Given the description of an element on the screen output the (x, y) to click on. 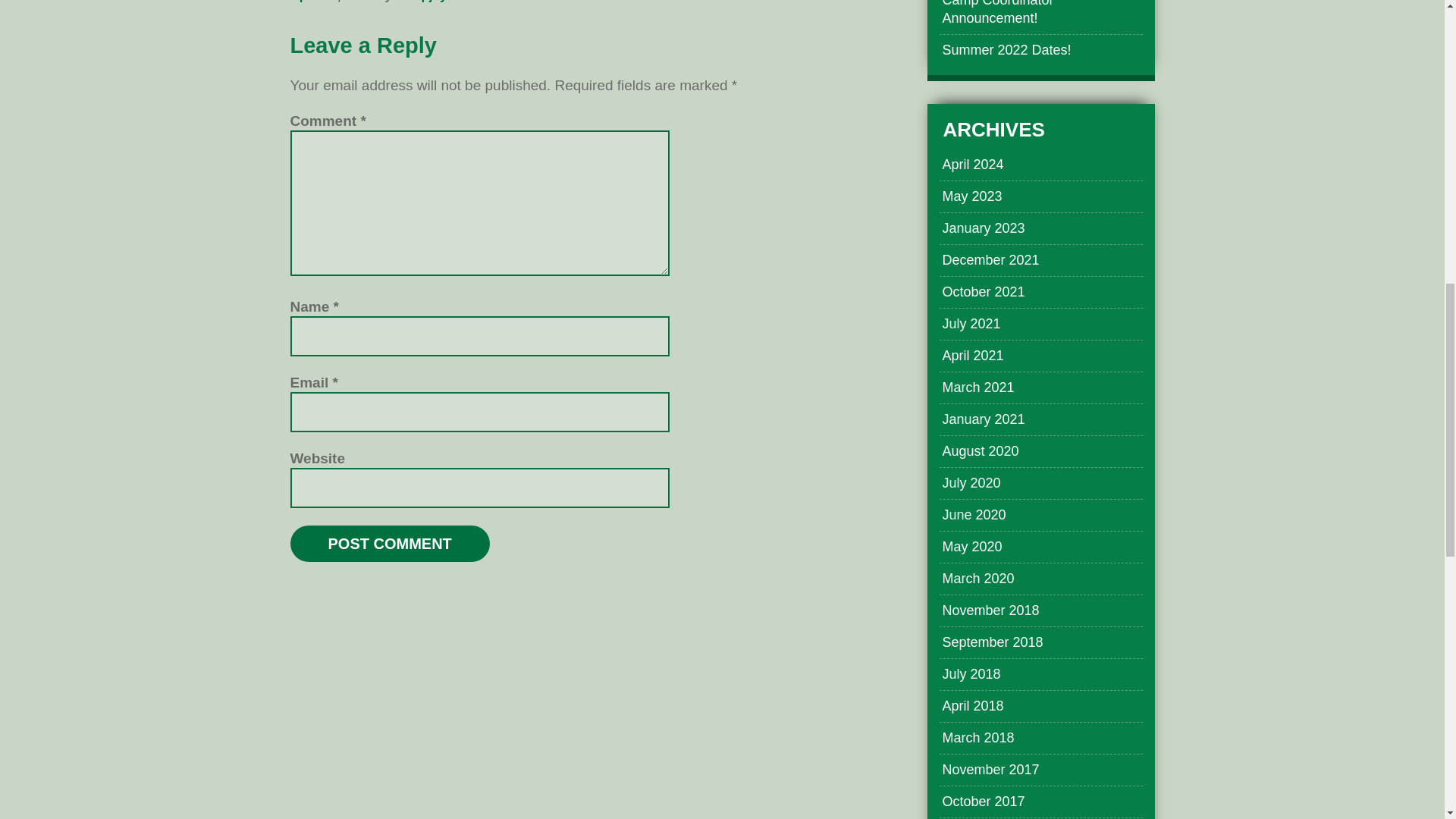
Post Comment (389, 543)
